Given the description of an element on the screen output the (x, y) to click on. 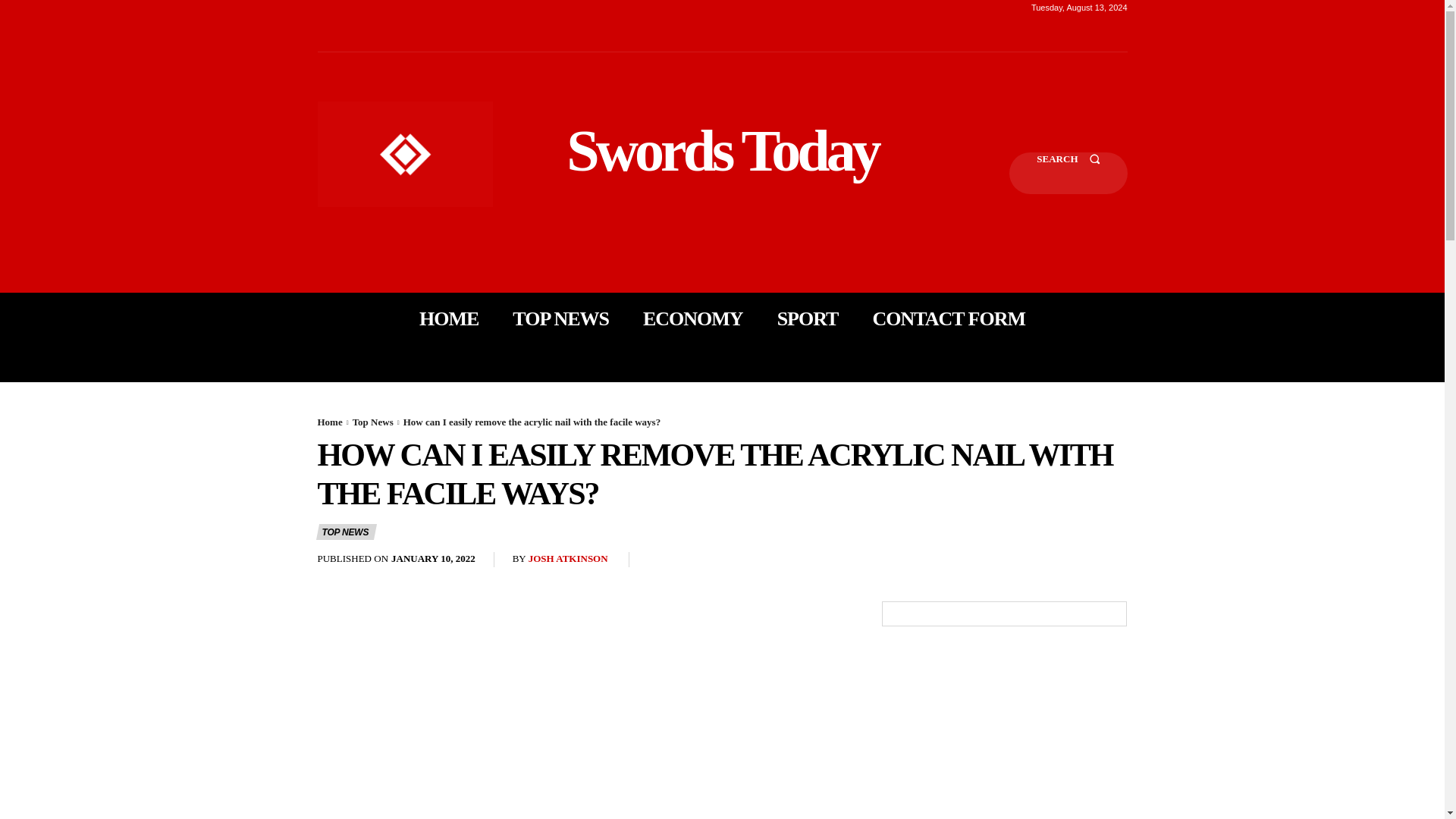
ECONOMY (692, 318)
SPORT (807, 318)
SEARCH (1067, 173)
Search (1067, 173)
Swords Today (722, 149)
JOSH ATKINSON (568, 558)
TOP NEWS (560, 318)
HOME (449, 318)
Top News (372, 421)
CONTACT FORM (948, 318)
